Given the description of an element on the screen output the (x, y) to click on. 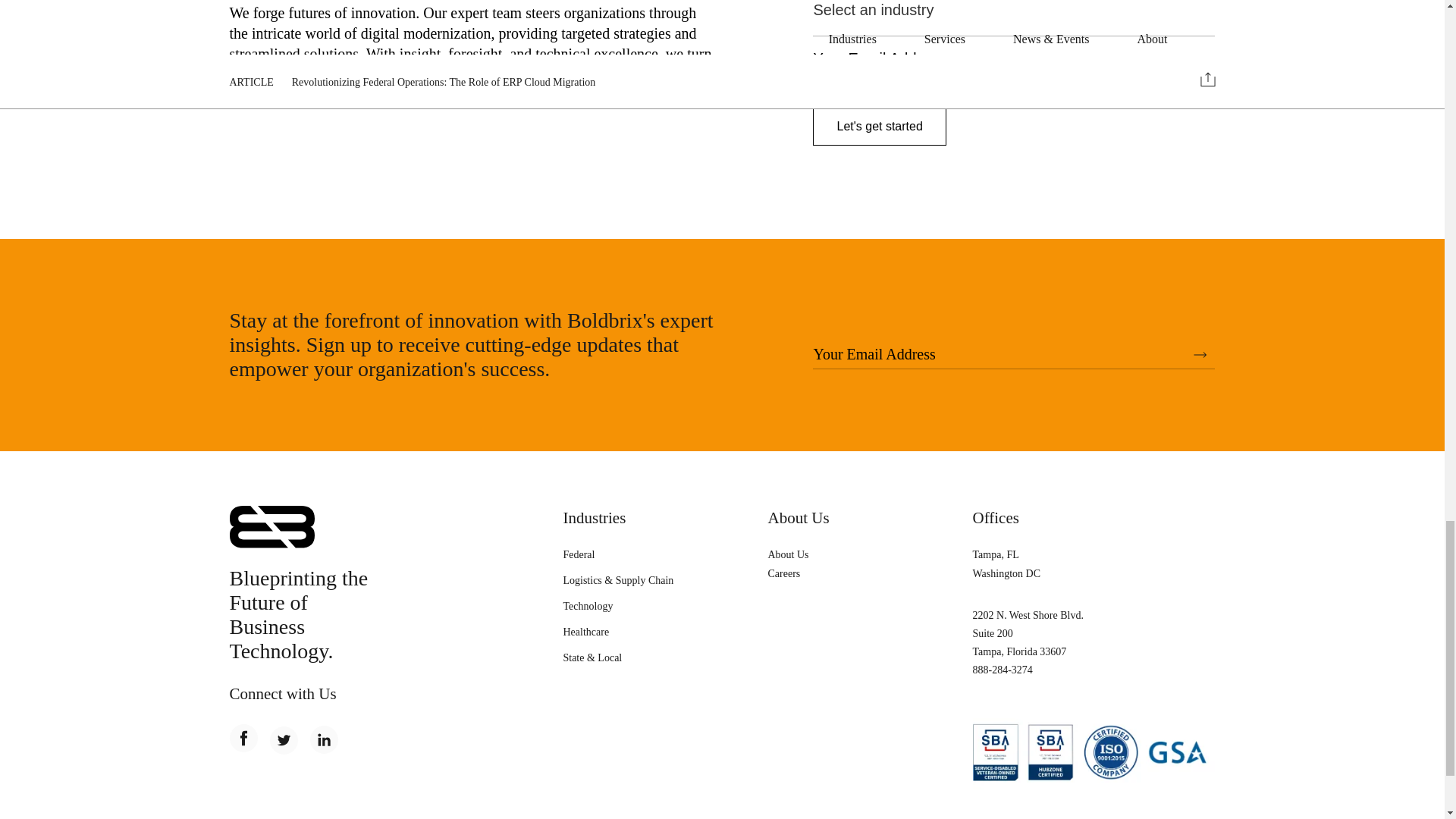
Let's get started (878, 126)
Let's get started (878, 126)
